Given the description of an element on the screen output the (x, y) to click on. 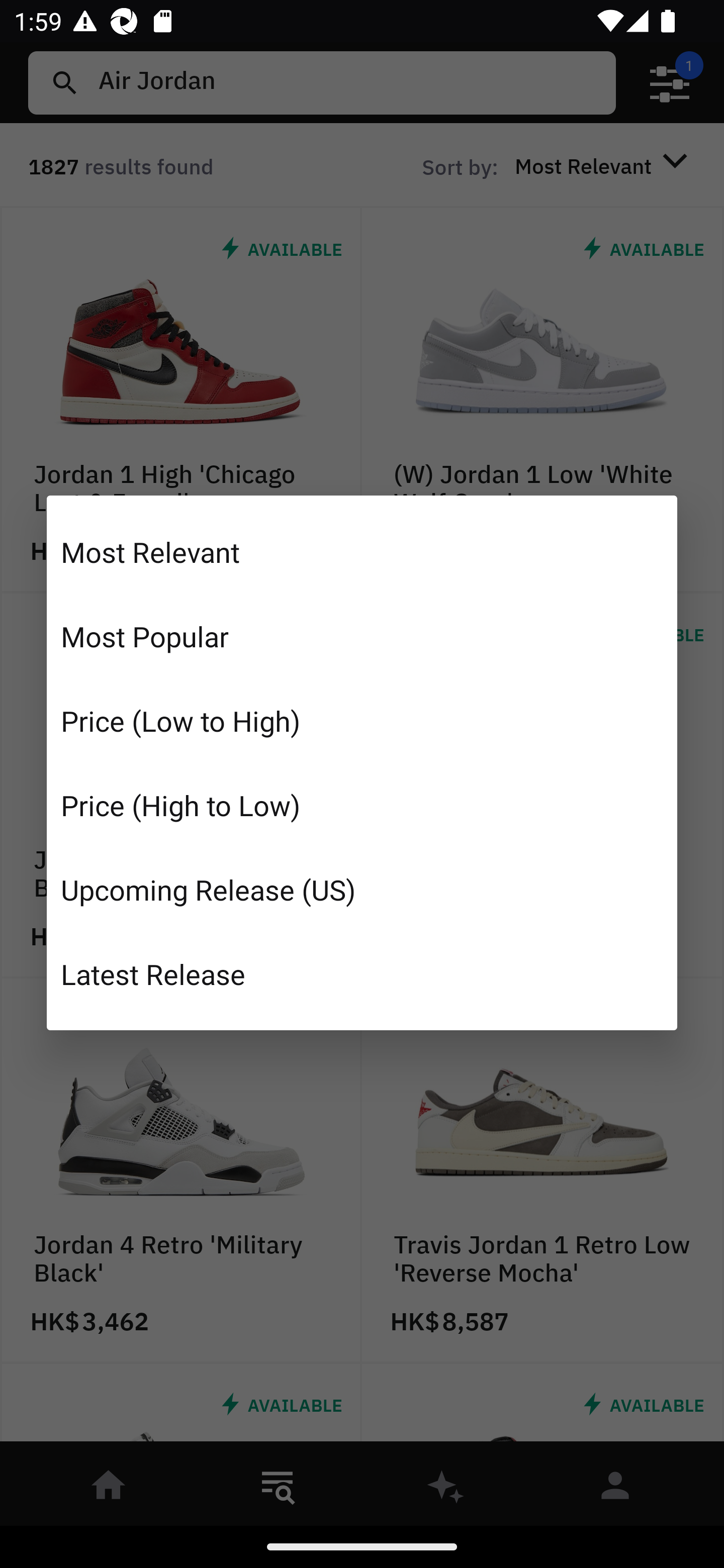
Most Relevant (361, 551)
Most Popular (361, 636)
Price (Low to High) (361, 720)
Price (High to Low) (361, 804)
Upcoming Release (US) (361, 888)
Latest Release (361, 973)
